Given the description of an element on the screen output the (x, y) to click on. 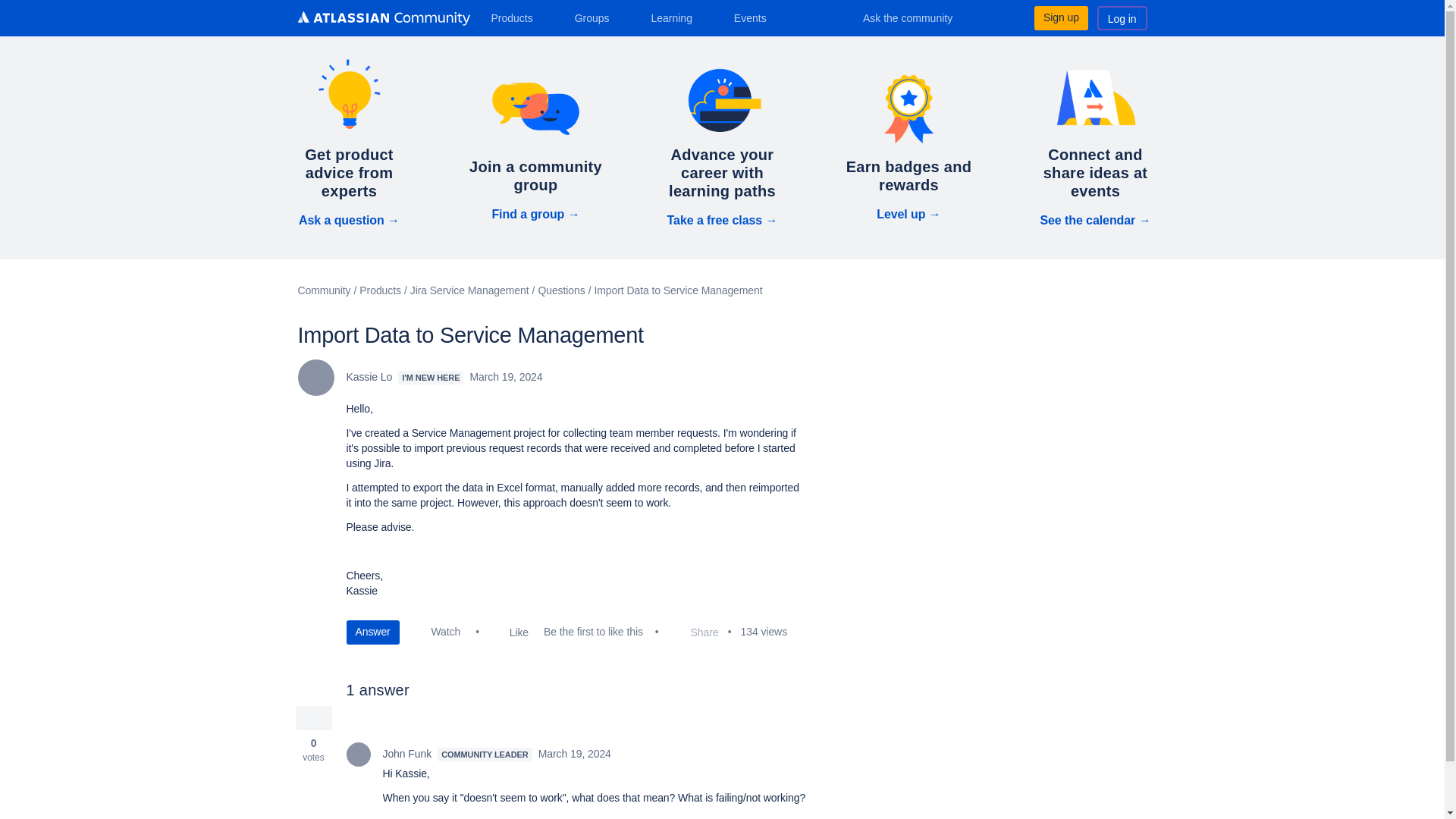
Atlassian Community logo (382, 18)
Kassie Lo (315, 377)
Products (517, 17)
Sign up (1060, 17)
Learning (676, 17)
Groups (598, 17)
Log in (1122, 17)
John Funk (357, 754)
Events (756, 17)
Atlassian Community logo (382, 19)
